Given the description of an element on the screen output the (x, y) to click on. 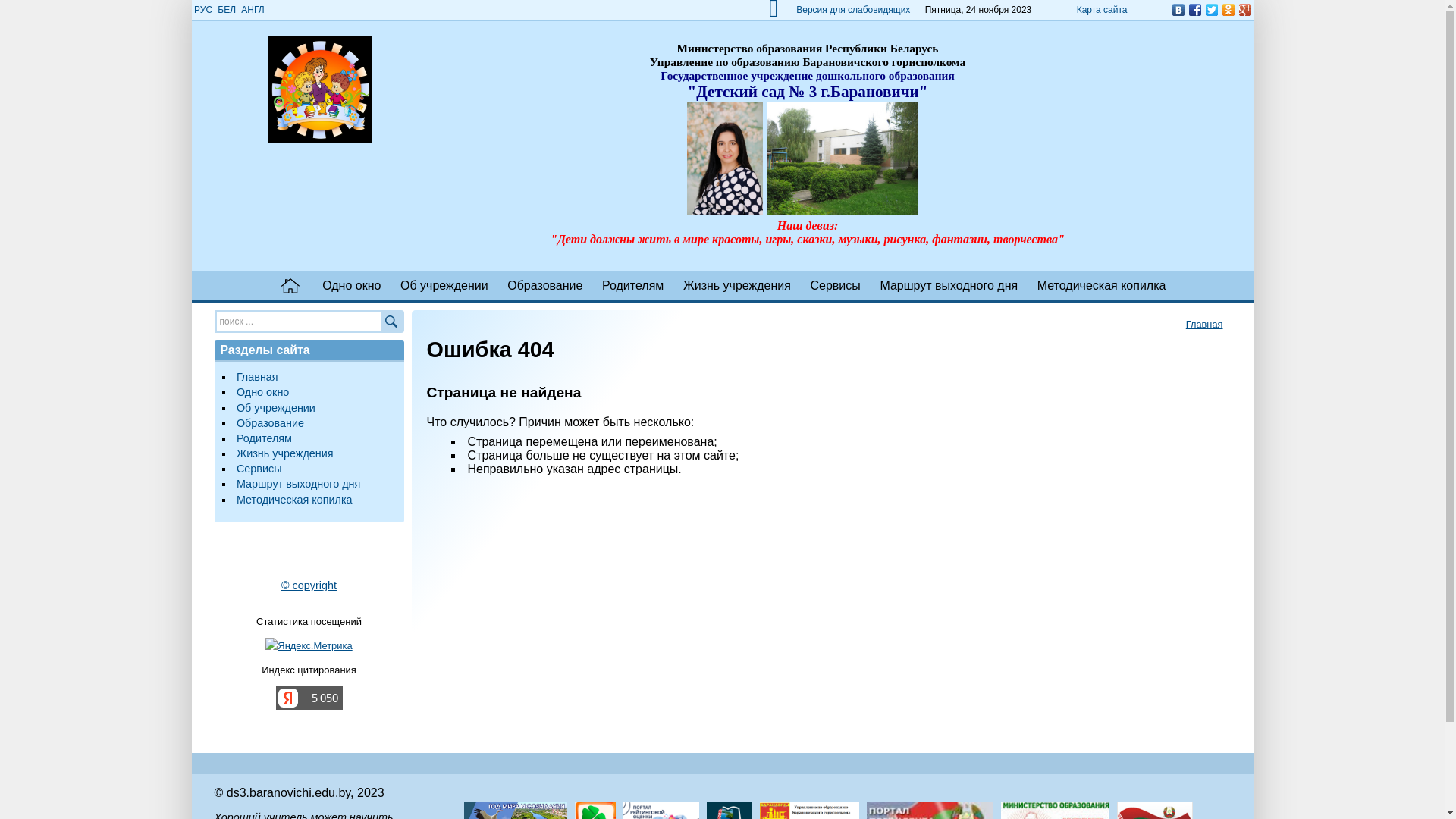
  Element type: text (291, 285)
Twitter Element type: hover (1210, 9)
Google Plus Element type: hover (1244, 9)
Facebook Element type: hover (1194, 9)
